Given the description of an element on the screen output the (x, y) to click on. 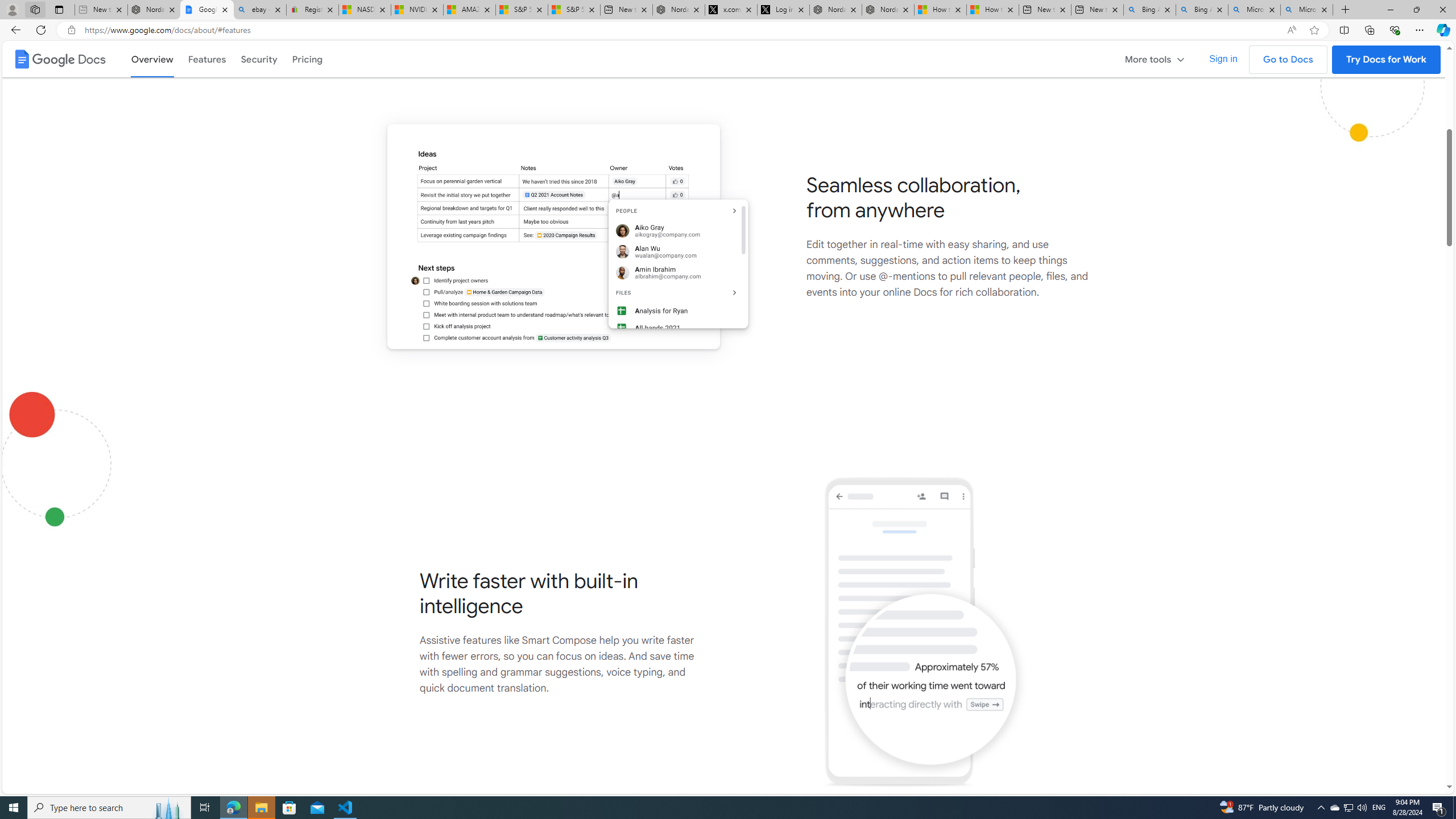
Log in to X / X (782, 9)
